Given the description of an element on the screen output the (x, y) to click on. 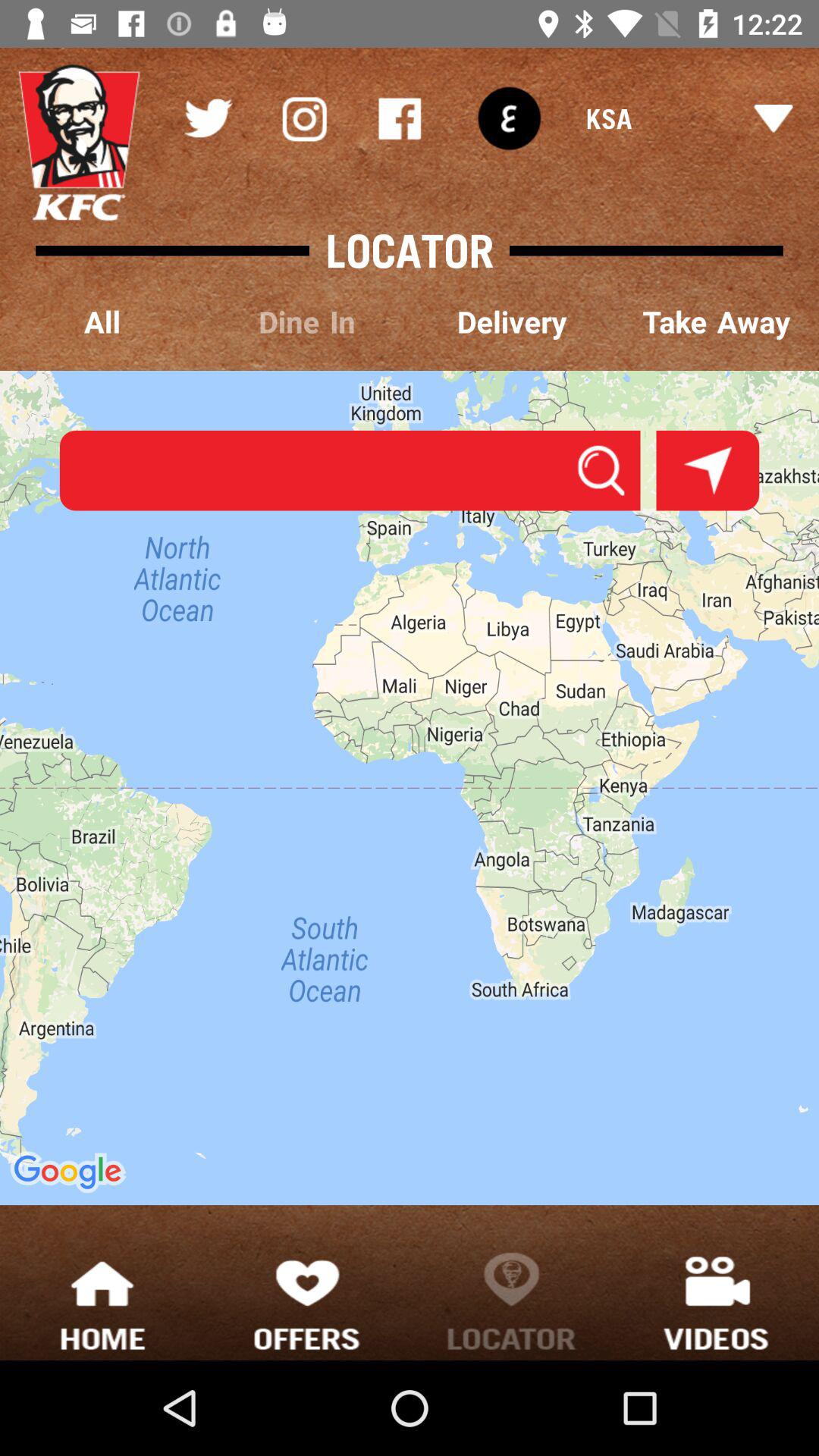
launch item above the locator icon (509, 118)
